Given the description of an element on the screen output the (x, y) to click on. 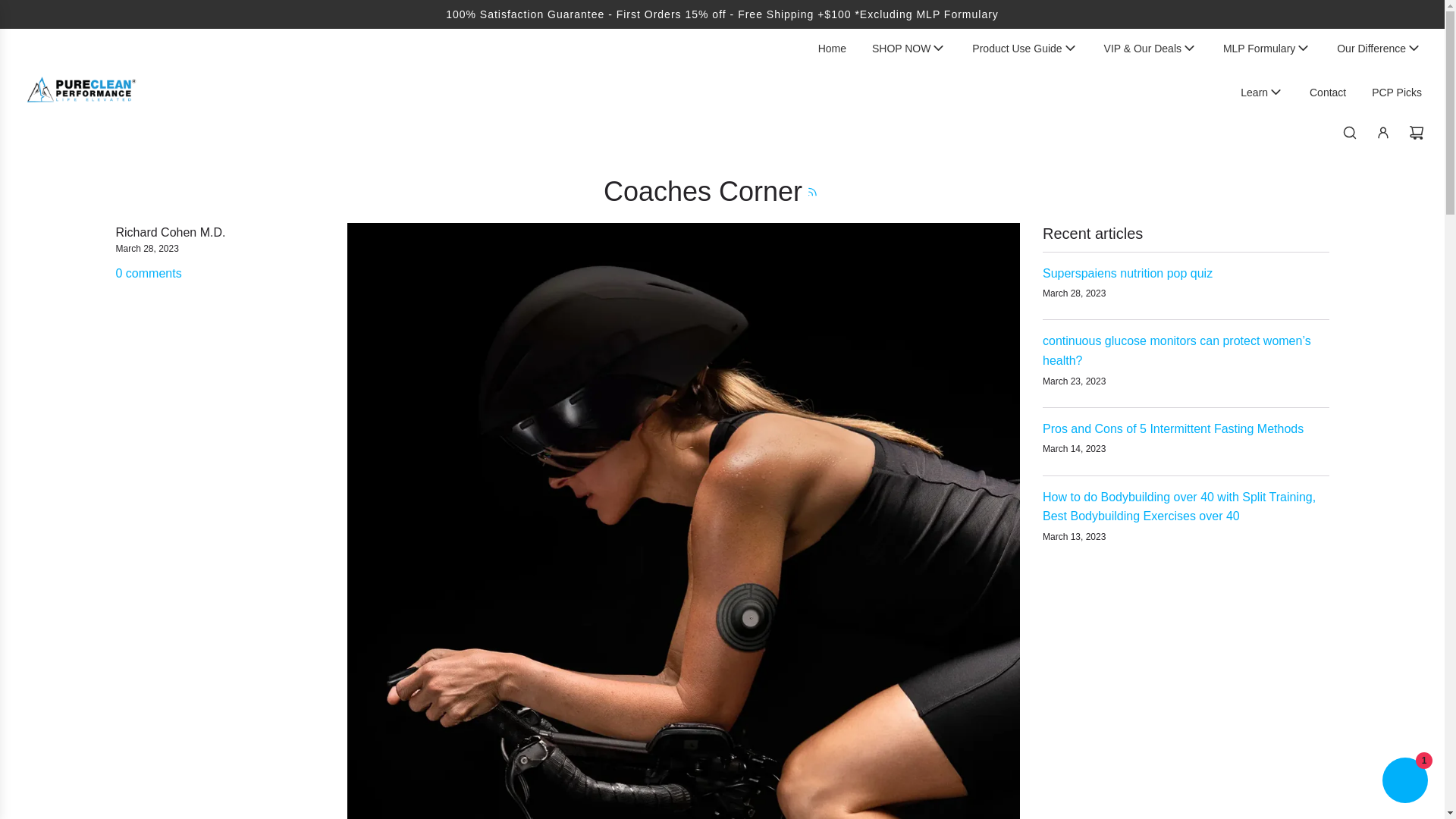
Shopify online store chat (1404, 781)
Log in (1383, 132)
